Given the description of an element on the screen output the (x, y) to click on. 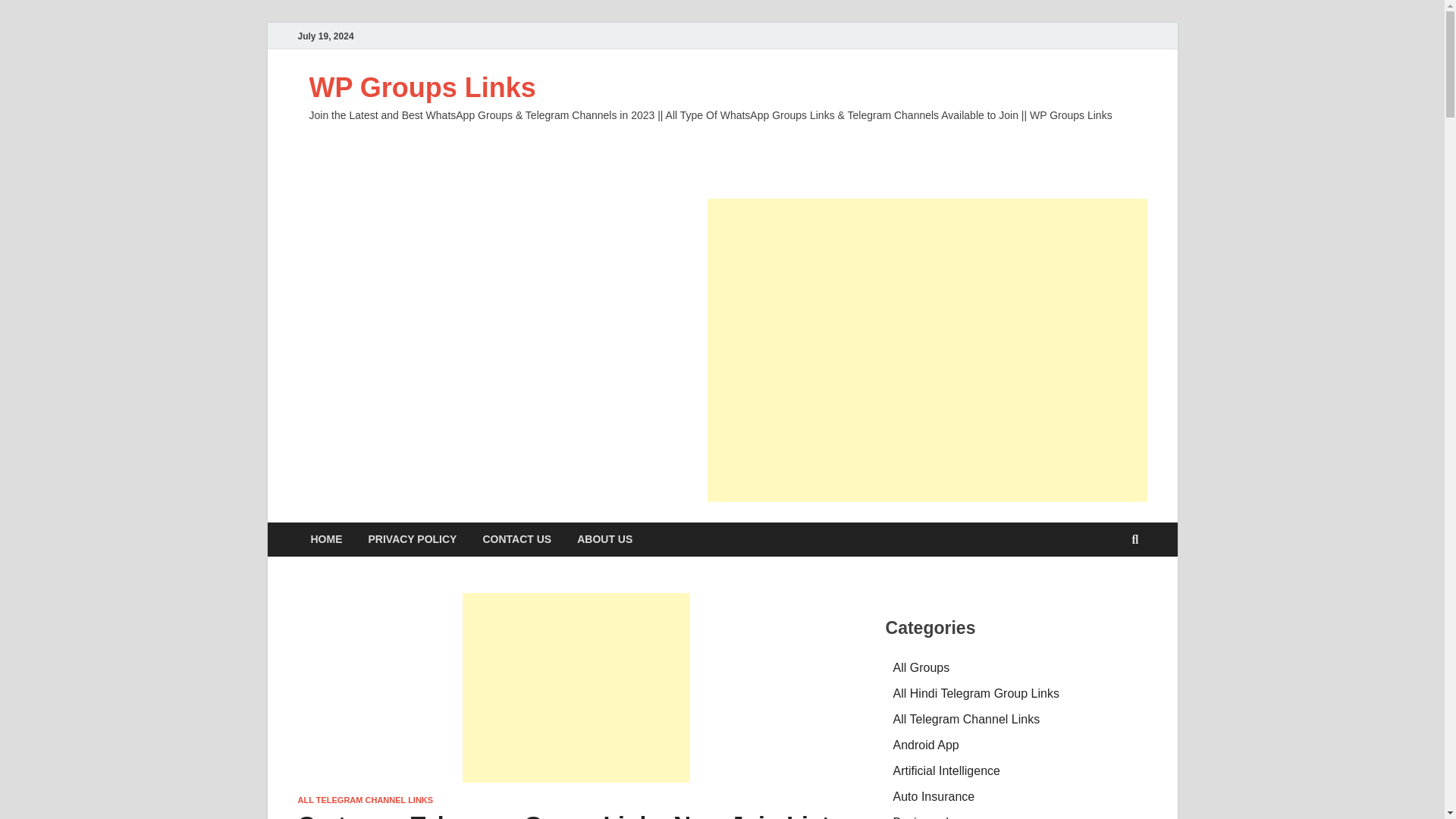
Advertisement (926, 350)
Advertisement (576, 687)
PRIVACY POLICY (411, 539)
CONTACT US (516, 539)
HOME (326, 539)
ALL TELEGRAM CHANNEL LINKS (364, 799)
WP Groups Links (421, 87)
ABOUT US (604, 539)
